Given the description of an element on the screen output the (x, y) to click on. 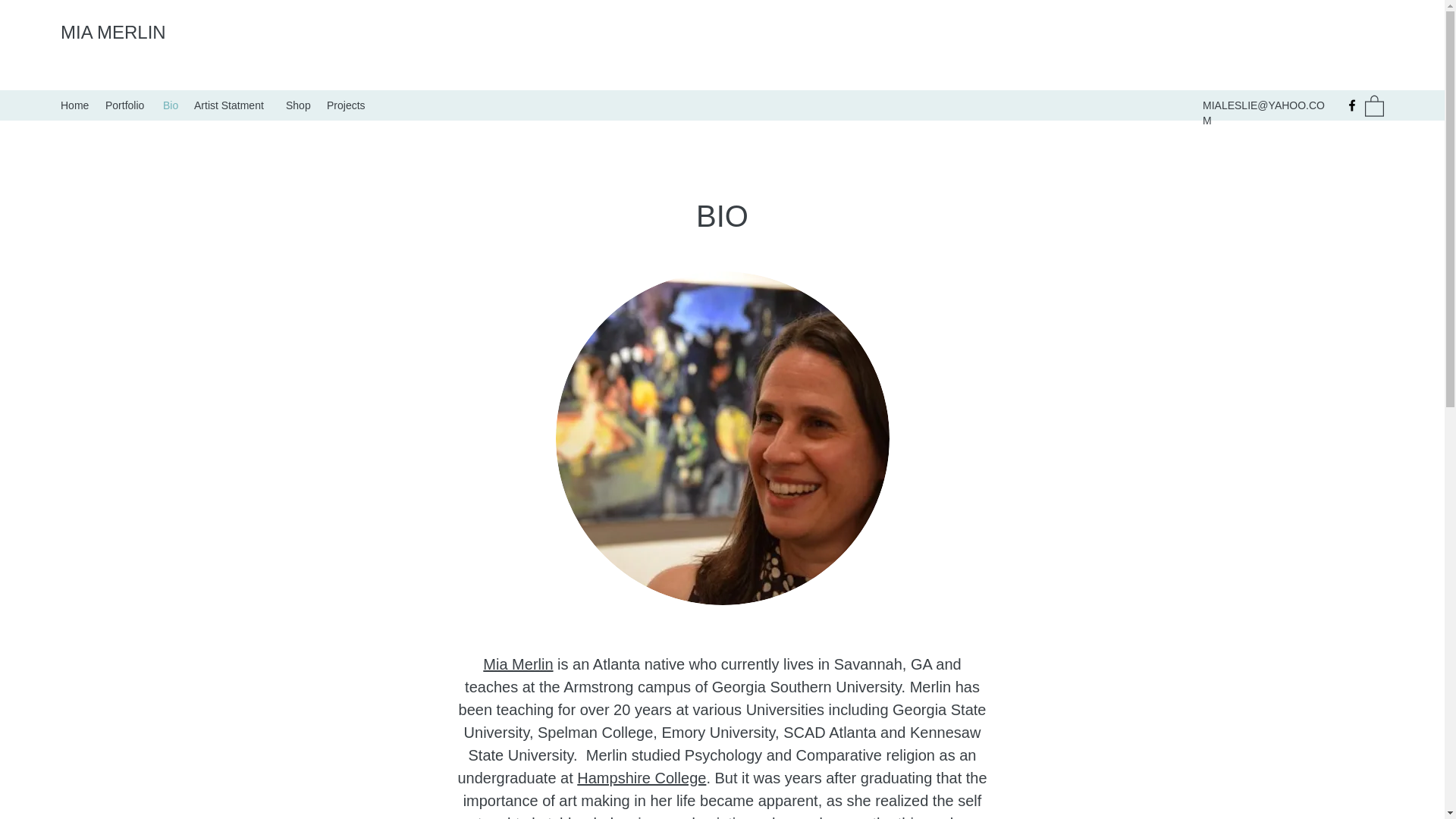
Shop (298, 105)
Home (74, 105)
Bio (170, 105)
Mia Merlin (518, 664)
Projects (346, 105)
Portfolio (126, 105)
Hampshire College (641, 777)
Artist Statment (232, 105)
